Given the description of an element on the screen output the (x, y) to click on. 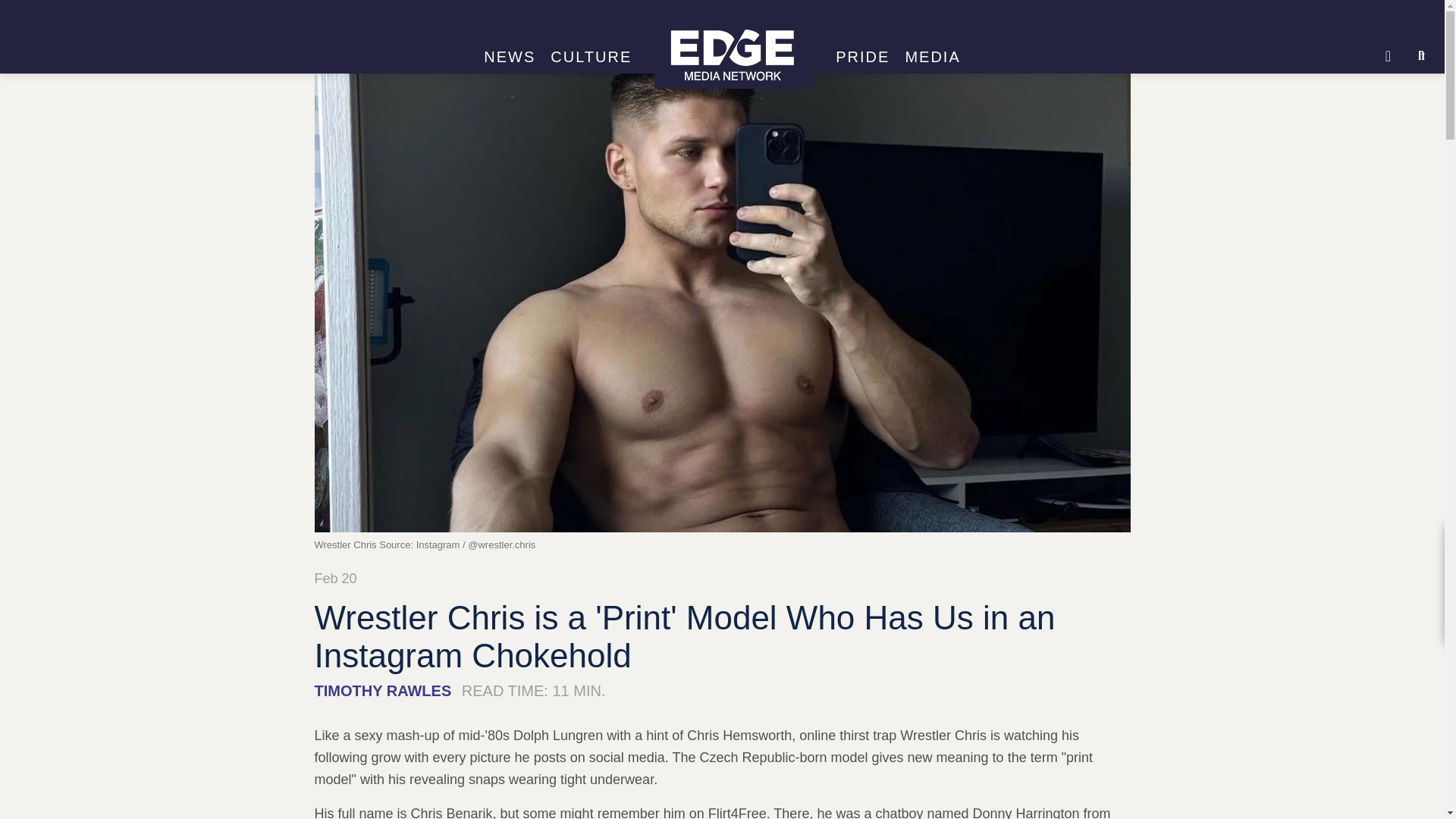
PRIDE (862, 57)
MEDIA (932, 57)
CULTURE (591, 57)
NEWS (509, 57)
